Given the description of an element on the screen output the (x, y) to click on. 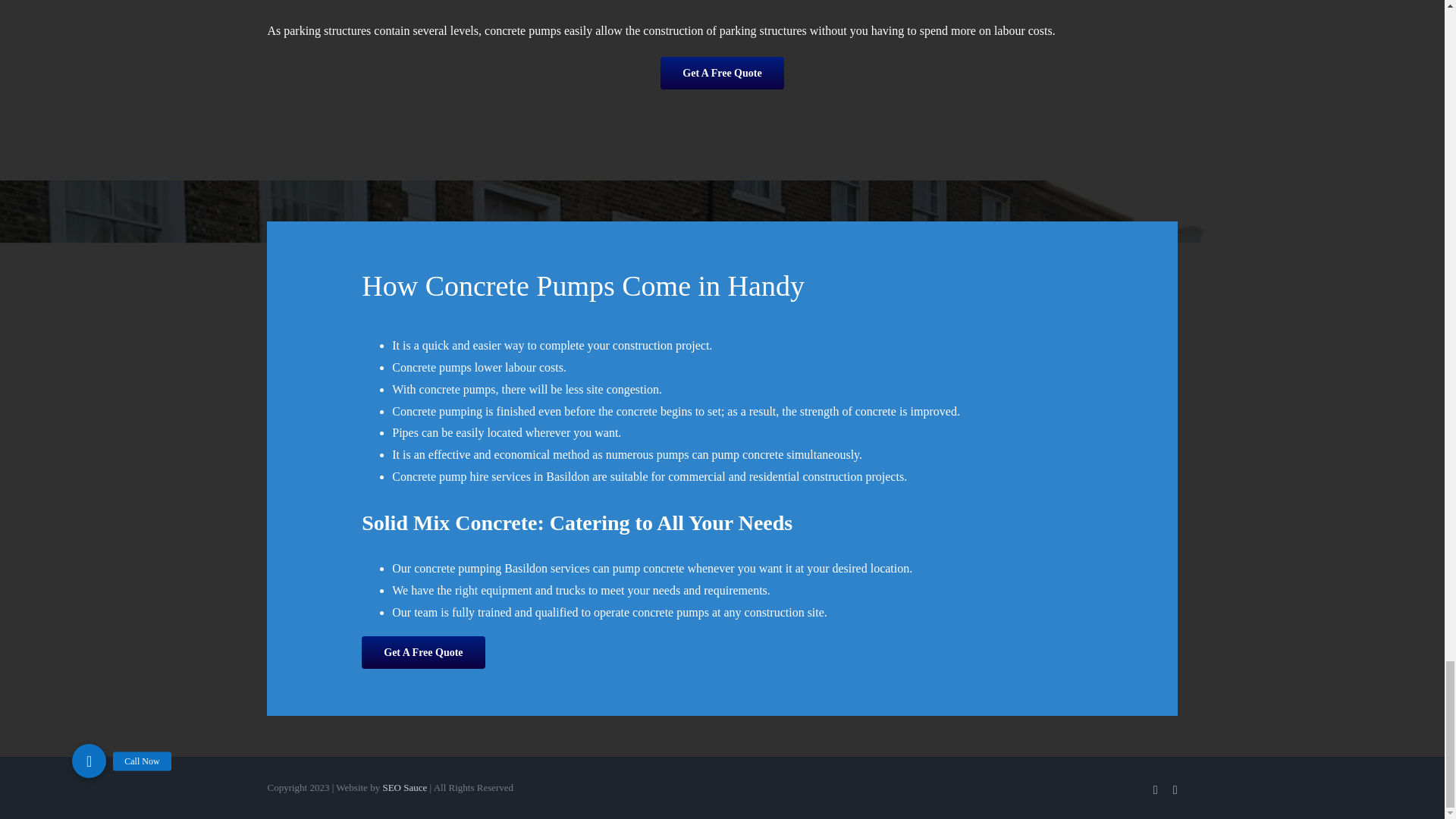
Get A Free Quote (722, 72)
Get A Free Quote (422, 652)
